Given the description of an element on the screen output the (x, y) to click on. 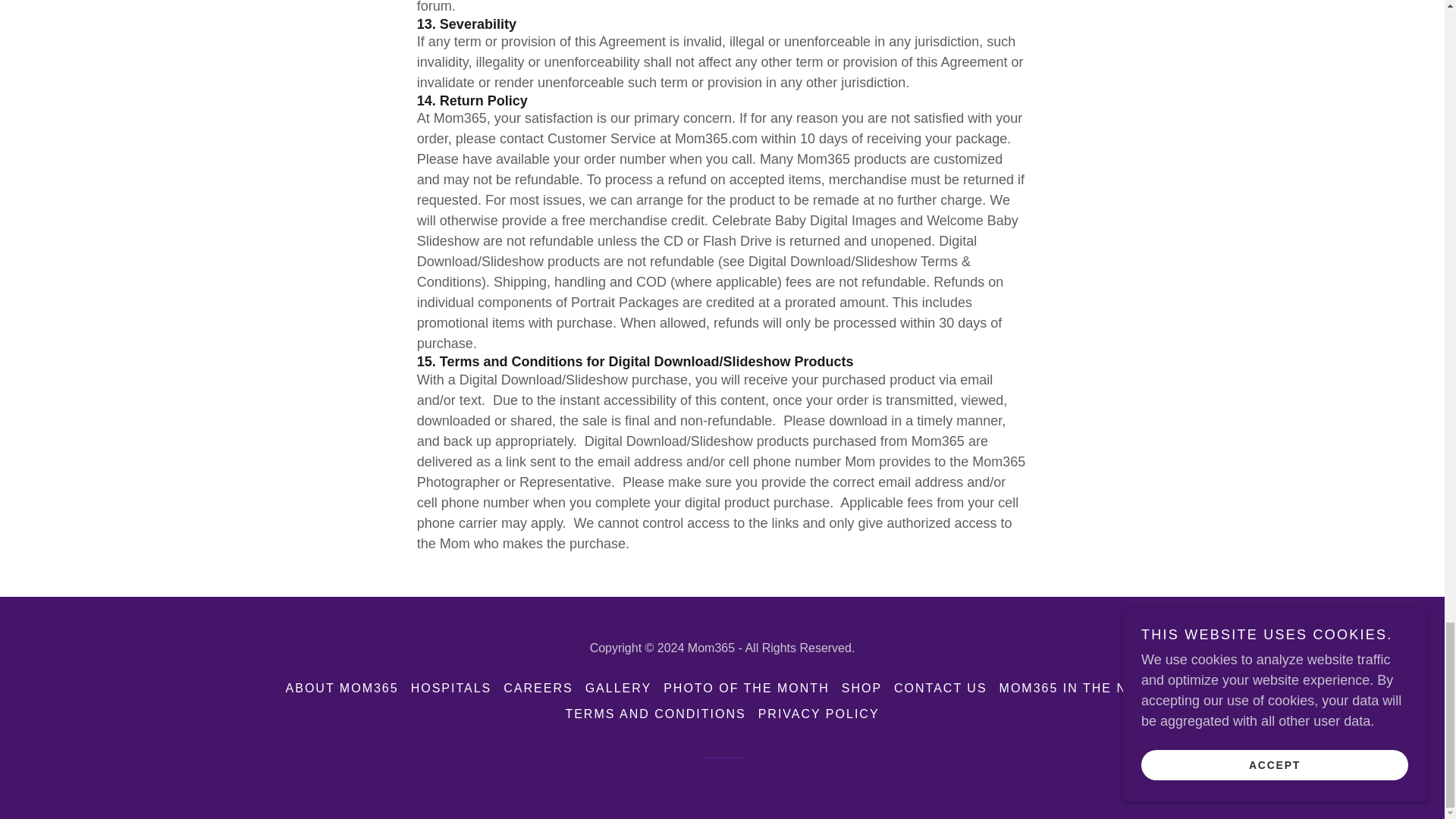
CONTACT US (940, 688)
MOM365 IN THE NEWS (1079, 688)
GALLERY (618, 688)
SHOP (861, 688)
HOSPITALS (450, 688)
PRIVACY POLICY (818, 714)
PHOTO OF THE MONTH (746, 688)
ABOUT MOM365 (341, 688)
TERMS AND CONDITIONS (655, 714)
CAREERS (537, 688)
